Given the description of an element on the screen output the (x, y) to click on. 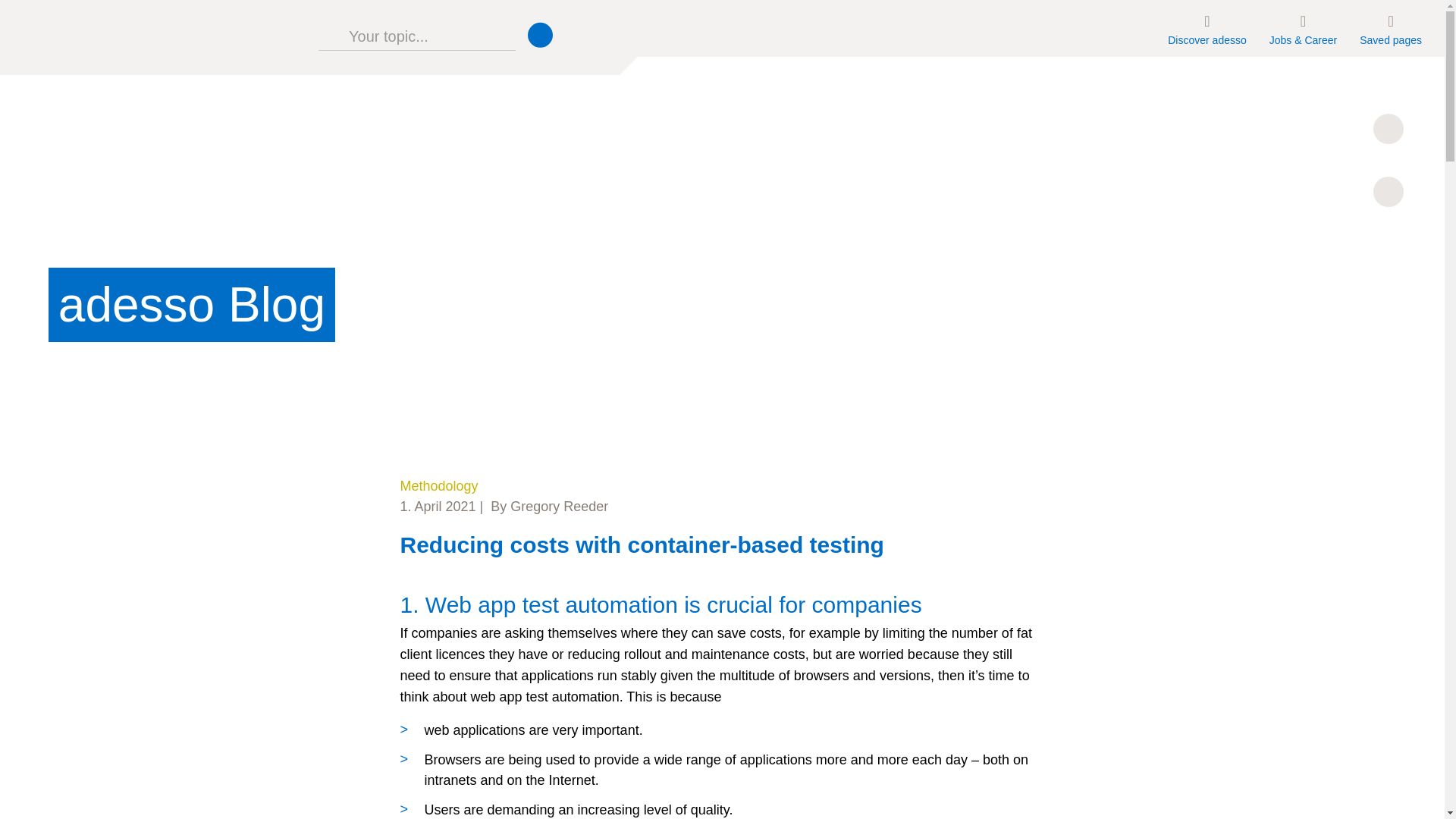
Discover adesso (1206, 28)
Saved pages (1390, 28)
